Given the description of an element on the screen output the (x, y) to click on. 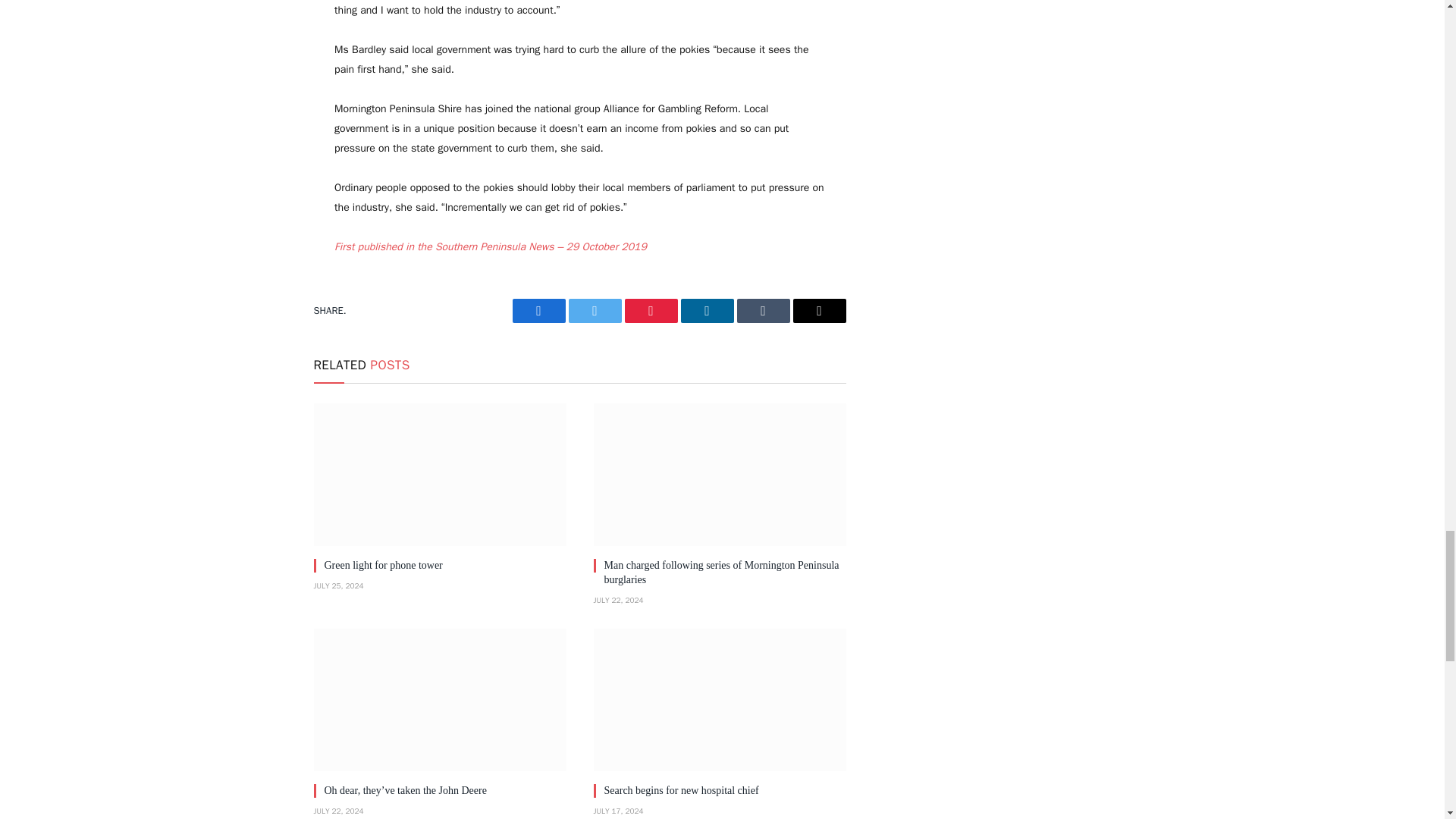
Share on Facebook (539, 310)
